Given the description of an element on the screen output the (x, y) to click on. 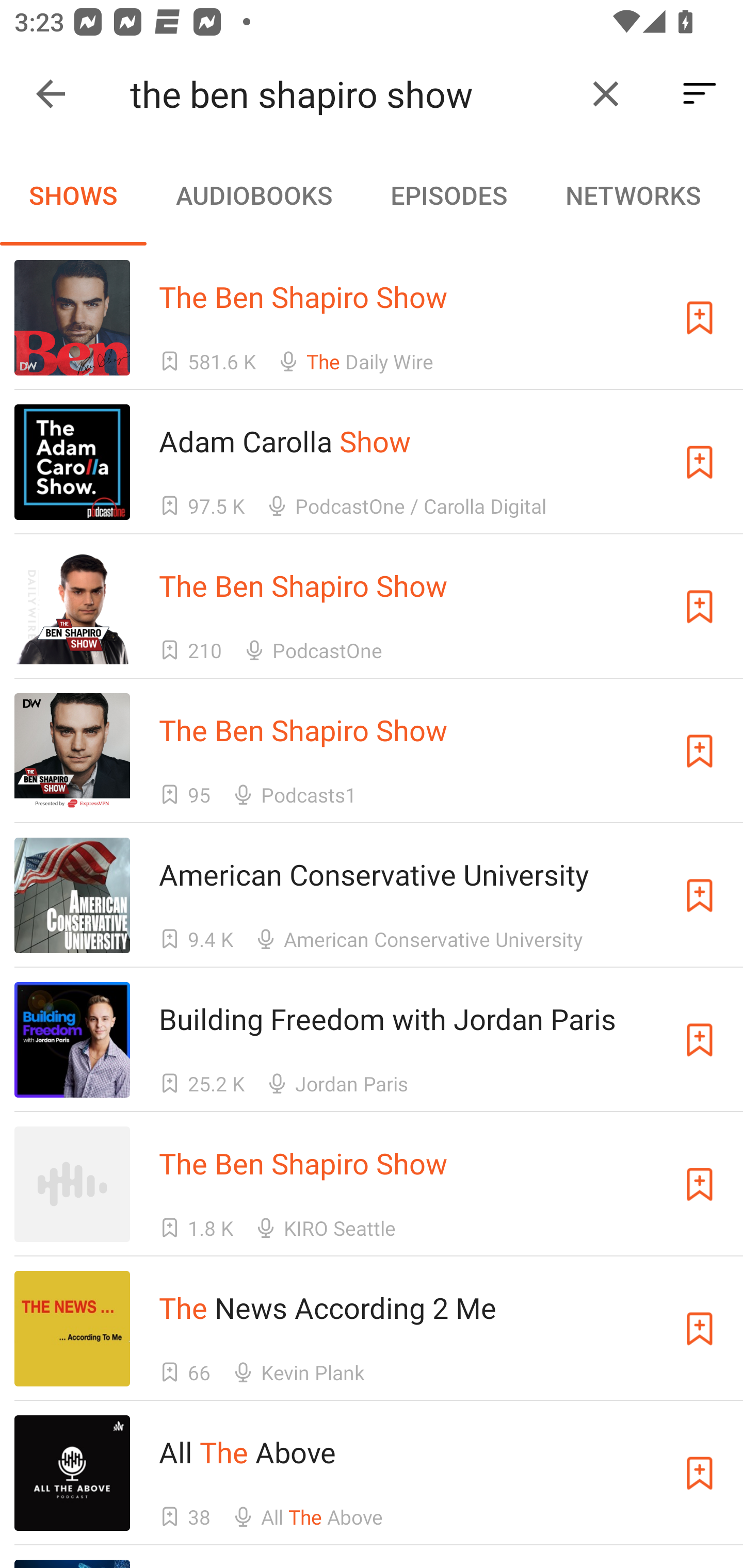
Collapse (50, 93)
Clear query (605, 93)
Sort By (699, 93)
the ben shapiro show (349, 94)
SHOWS (73, 195)
AUDIOBOOKS (253, 195)
EPISODES (448, 195)
NETWORKS (632, 195)
Subscribe (699, 317)
Subscribe (699, 462)
Subscribe (699, 606)
Subscribe (699, 751)
Subscribe (699, 895)
Subscribe (699, 1039)
Subscribe (699, 1183)
Subscribe (699, 1328)
Subscribe (699, 1472)
